Given the description of an element on the screen output the (x, y) to click on. 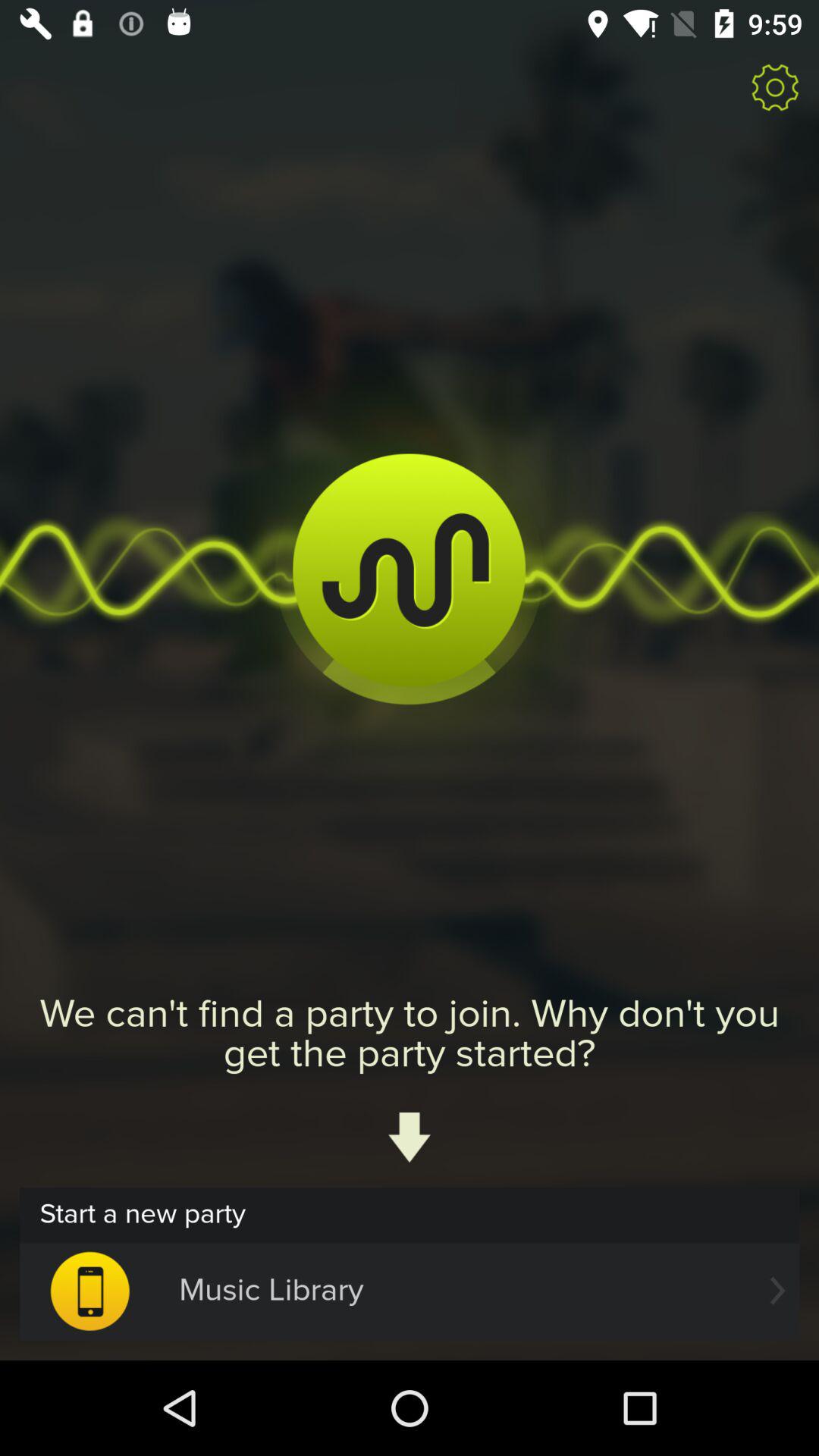
select music library which is at bottom of the page (409, 1290)
